Given the description of an element on the screen output the (x, y) to click on. 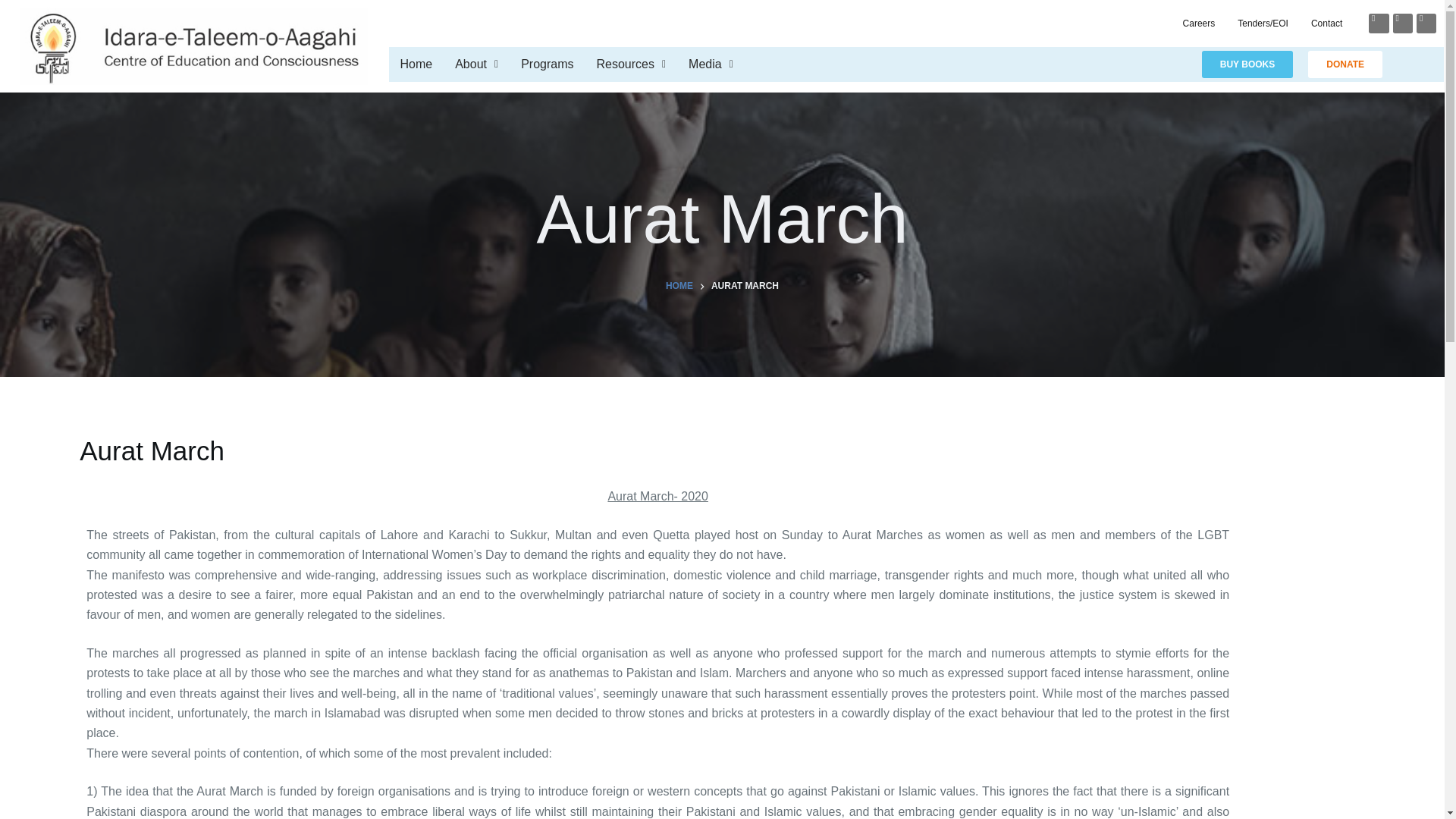
Programs (547, 63)
DONATE (1344, 63)
Careers (1199, 23)
Contact (1327, 23)
Skip to content (15, 7)
Aurat March (722, 219)
Media (710, 63)
About (476, 63)
BUY BOOKS (1247, 63)
Resources (631, 63)
Home (416, 63)
